Given the description of an element on the screen output the (x, y) to click on. 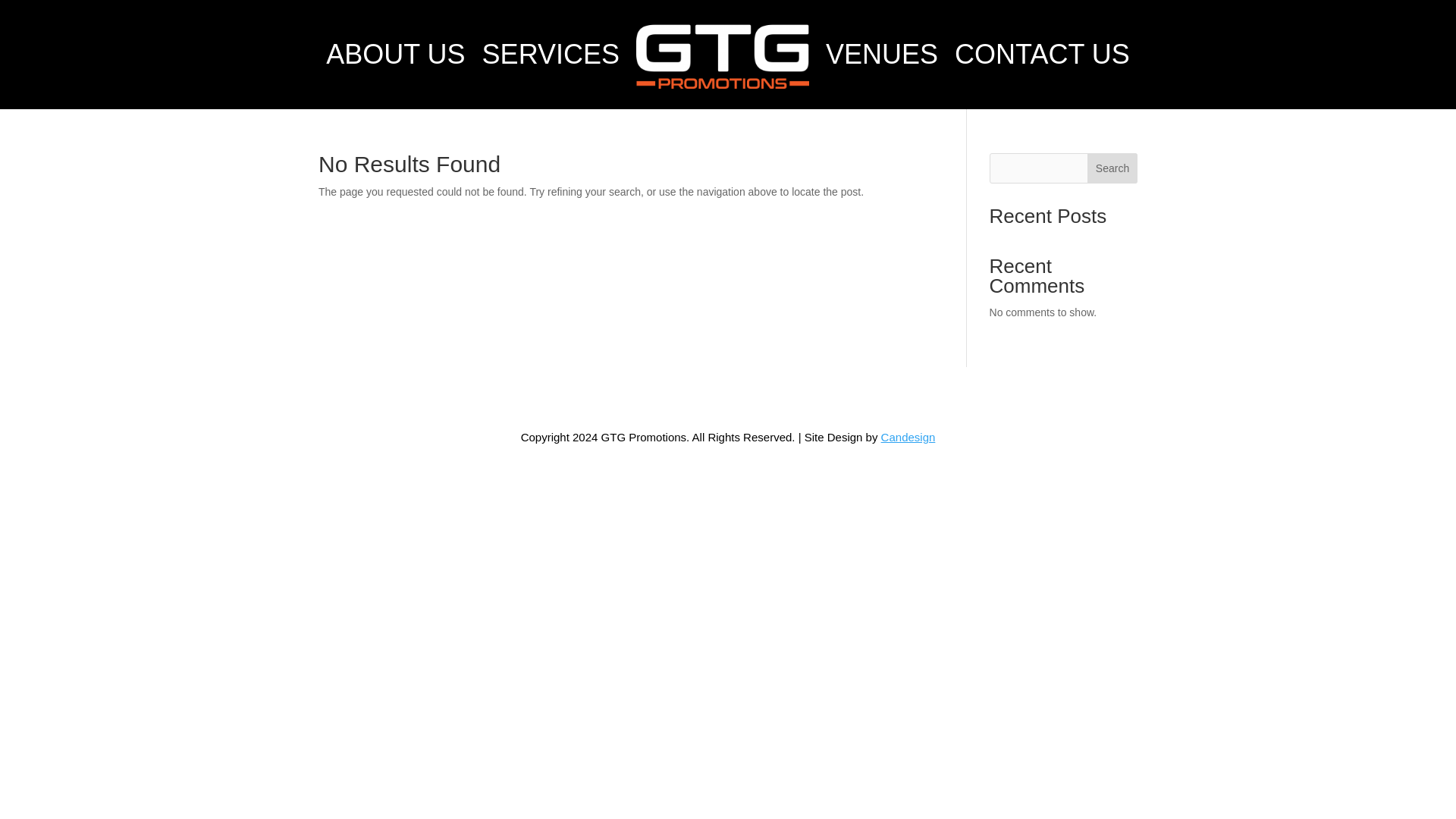
SERVICES (550, 54)
ABOUT US (395, 54)
CONTACT US (1042, 54)
Search (1112, 168)
Candesign (908, 436)
VENUES (881, 54)
